Given the description of an element on the screen output the (x, y) to click on. 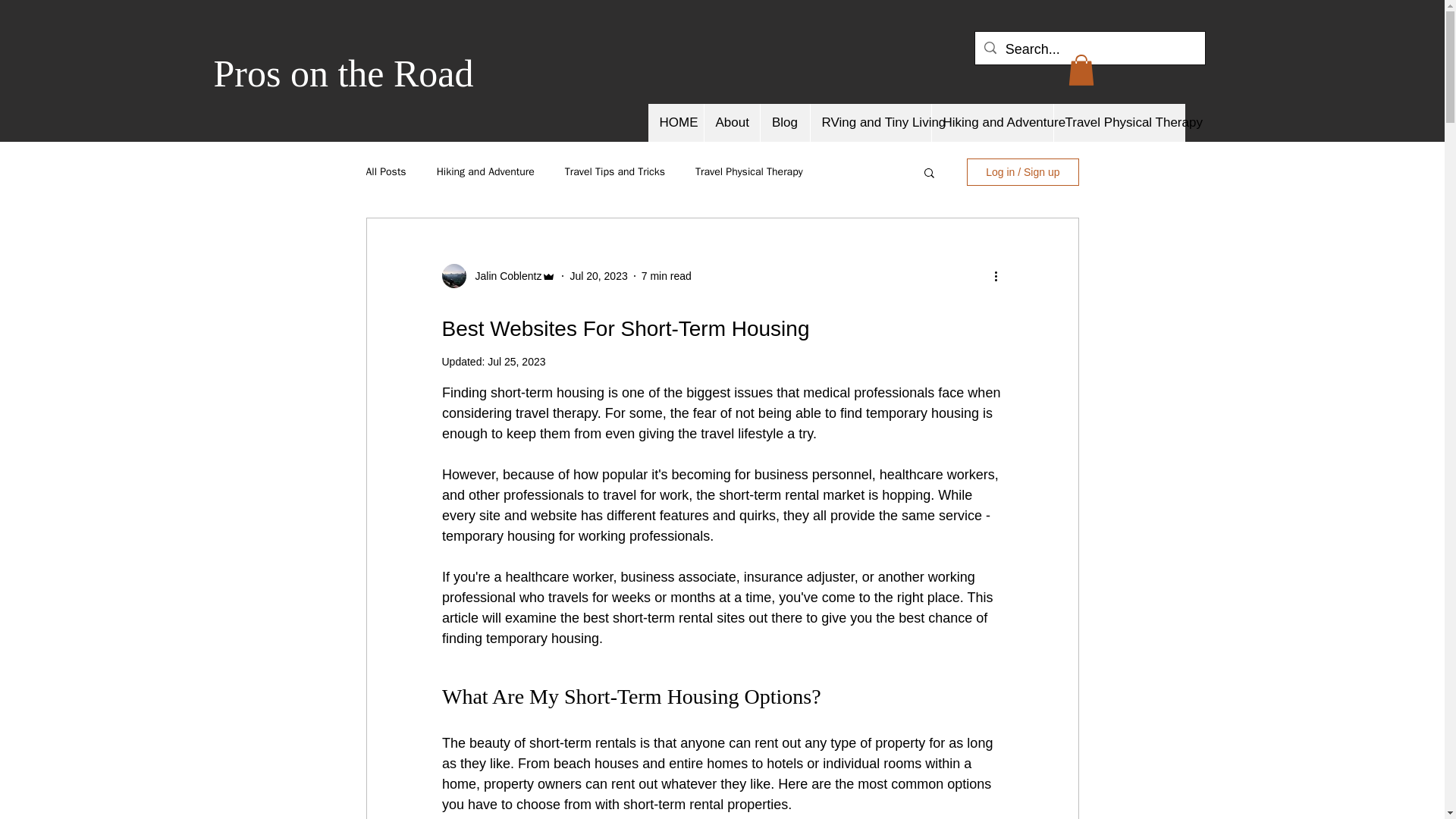
Jul 25, 2023 (515, 361)
All Posts (385, 172)
Jul 20, 2023 (598, 275)
Jalin Coblentz (503, 276)
Hiking and Adventure (991, 122)
HOME (675, 122)
About (731, 122)
Blog (784, 122)
Travel Tips and Tricks (614, 172)
RVing and Tiny Living (870, 122)
Travel Physical Therapy (749, 172)
7 min read (666, 275)
Travel Physical Therapy (1118, 122)
Hiking and Adventure (485, 172)
